Given the description of an element on the screen output the (x, y) to click on. 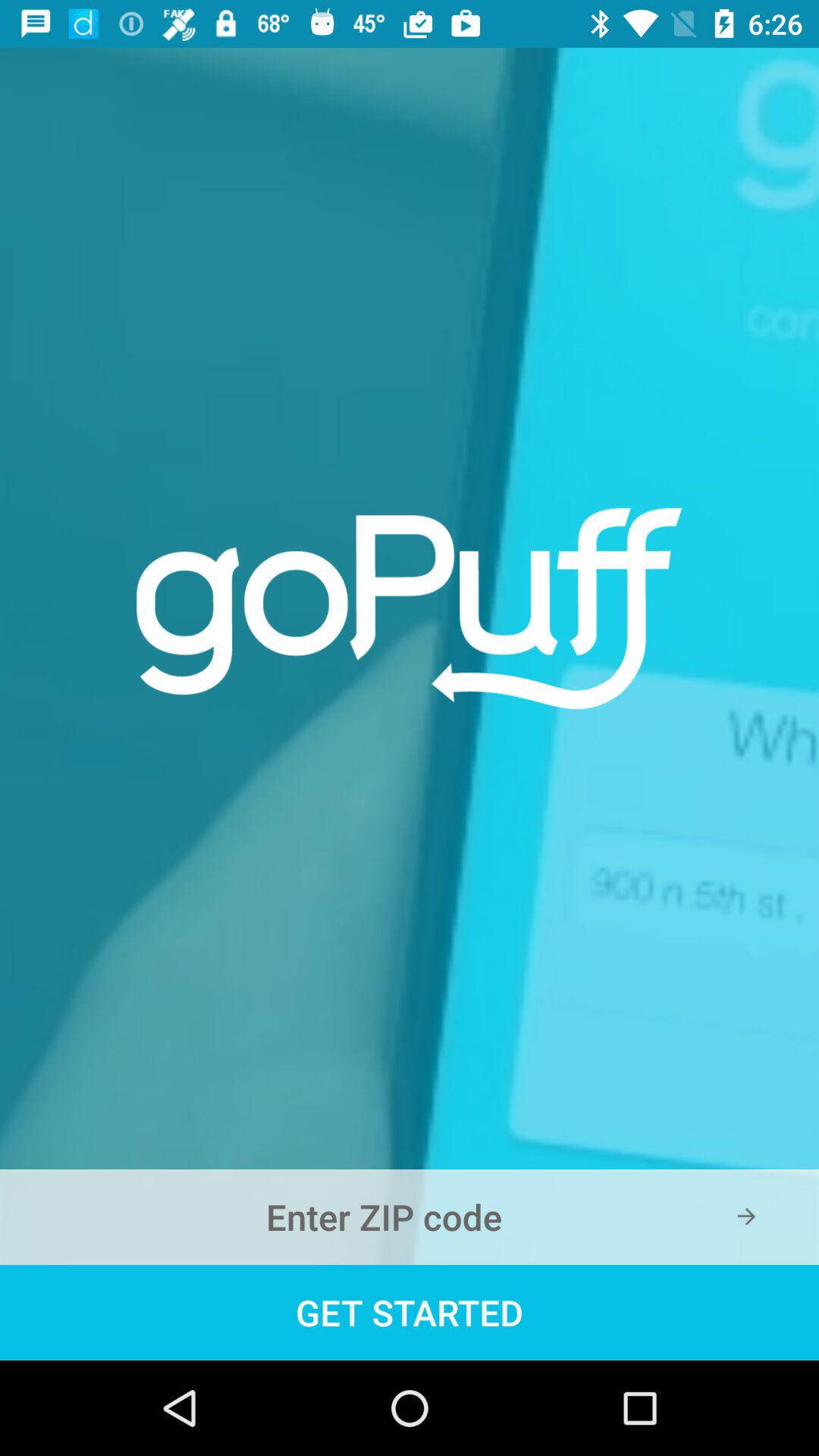
write zip code (409, 1216)
